Given the description of an element on the screen output the (x, y) to click on. 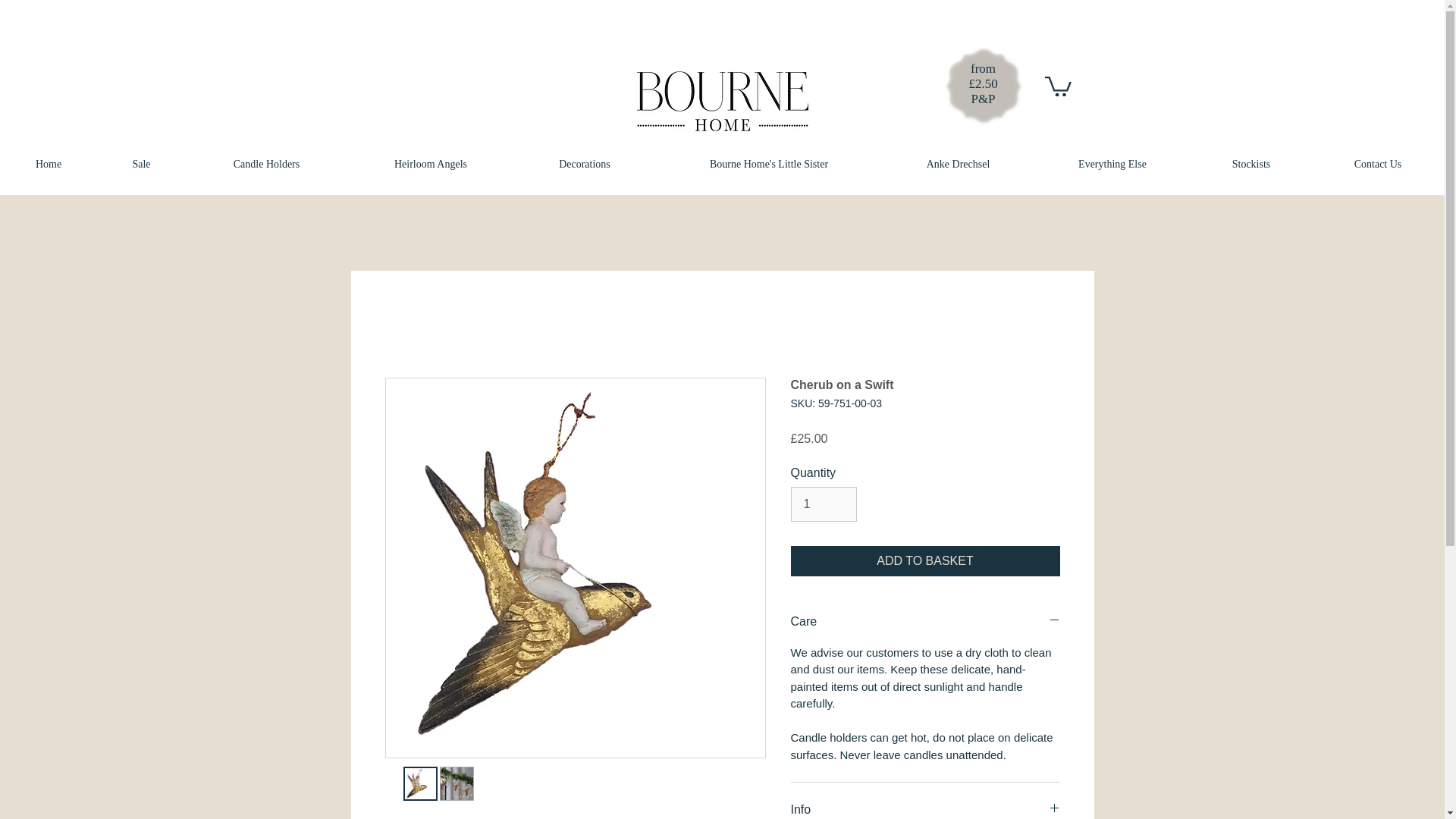
Candle Holders (266, 164)
Stockists (1251, 164)
Anke Drechsel (957, 164)
ADD TO BASKET (924, 561)
Bourne Home's Little Sister (768, 164)
Sale (141, 164)
1 (823, 503)
Everything Else (1112, 164)
Heirloom Angels (430, 164)
Info (924, 809)
Home (48, 164)
Decorations (584, 164)
Care (924, 621)
